Given the description of an element on the screen output the (x, y) to click on. 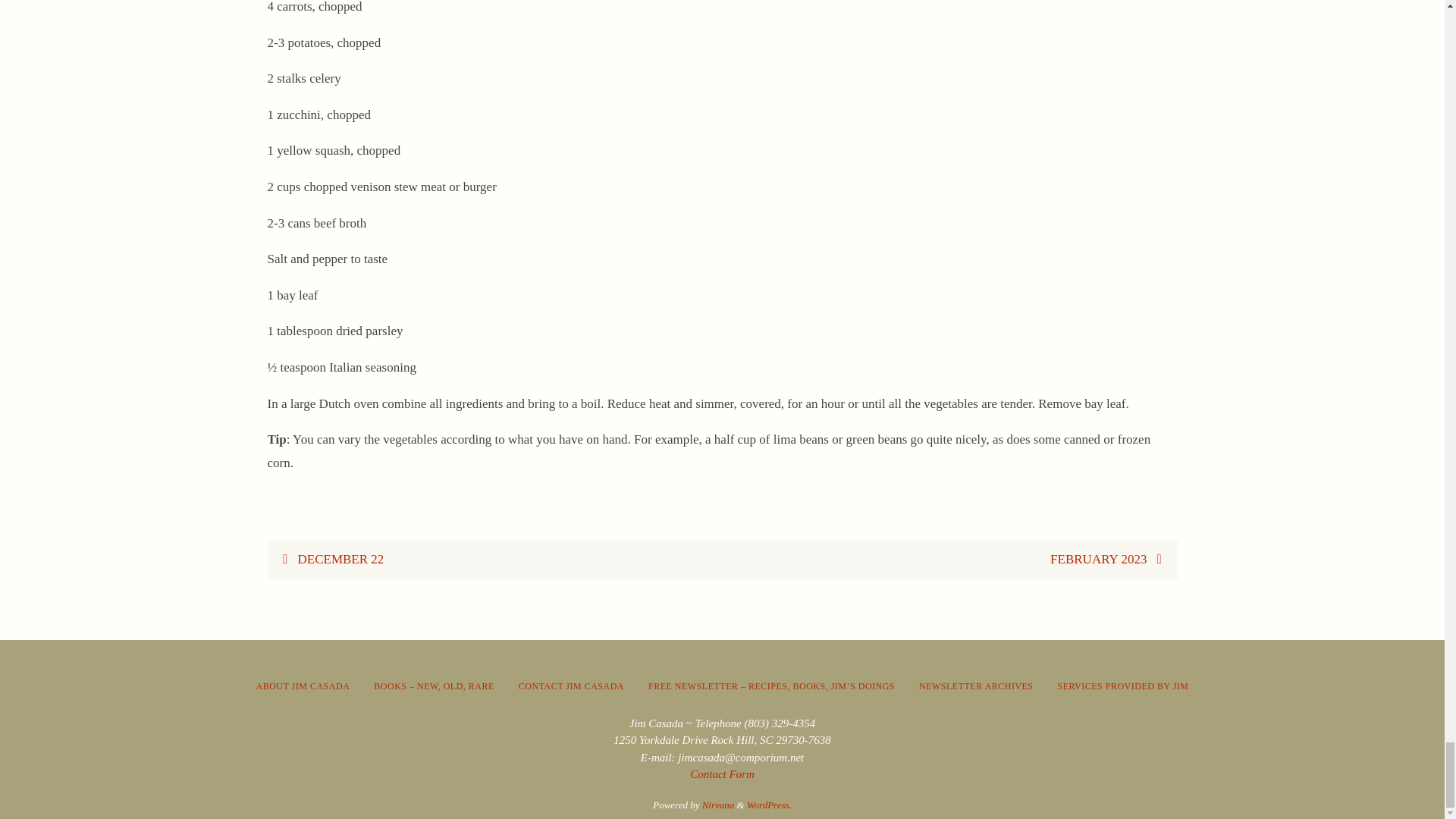
SERVICES PROVIDED BY JIM (1122, 686)
Contact Form (722, 774)
NEWSLETTER ARCHIVES (976, 686)
DECEMBER 22 (494, 559)
Nirvana Theme by Cryout Creations (718, 804)
ABOUT JIM CASADA (303, 686)
Nirvana (718, 804)
WordPress. (769, 804)
Semantic Personal Publishing Platform (769, 804)
FEBRUARY 2023 (949, 559)
CONTACT JIM CASADA (571, 686)
